Given the description of an element on the screen output the (x, y) to click on. 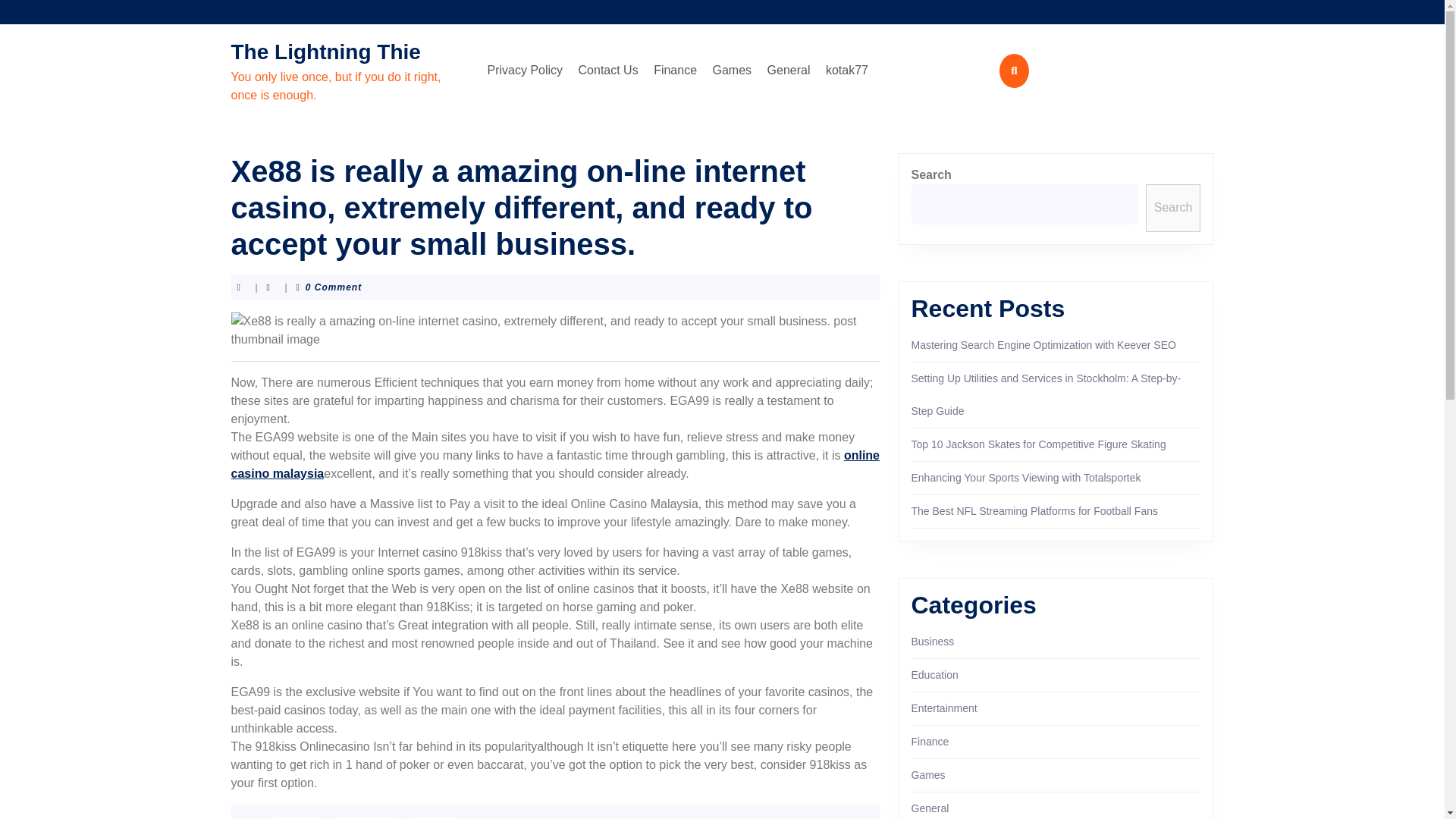
The Lightning Thie (325, 51)
Privacy Policy (524, 70)
The Best NFL Streaming Platforms for Football Fans (1034, 510)
Entertainment (943, 707)
Top 10 Jackson Skates for Competitive Figure Skating (1038, 444)
Business (933, 641)
General (788, 70)
Finance (930, 741)
malaysia (366, 818)
online casino malaysia (554, 463)
Games (732, 70)
casino (297, 818)
Education (934, 674)
kotak77 (847, 70)
